Given the description of an element on the screen output the (x, y) to click on. 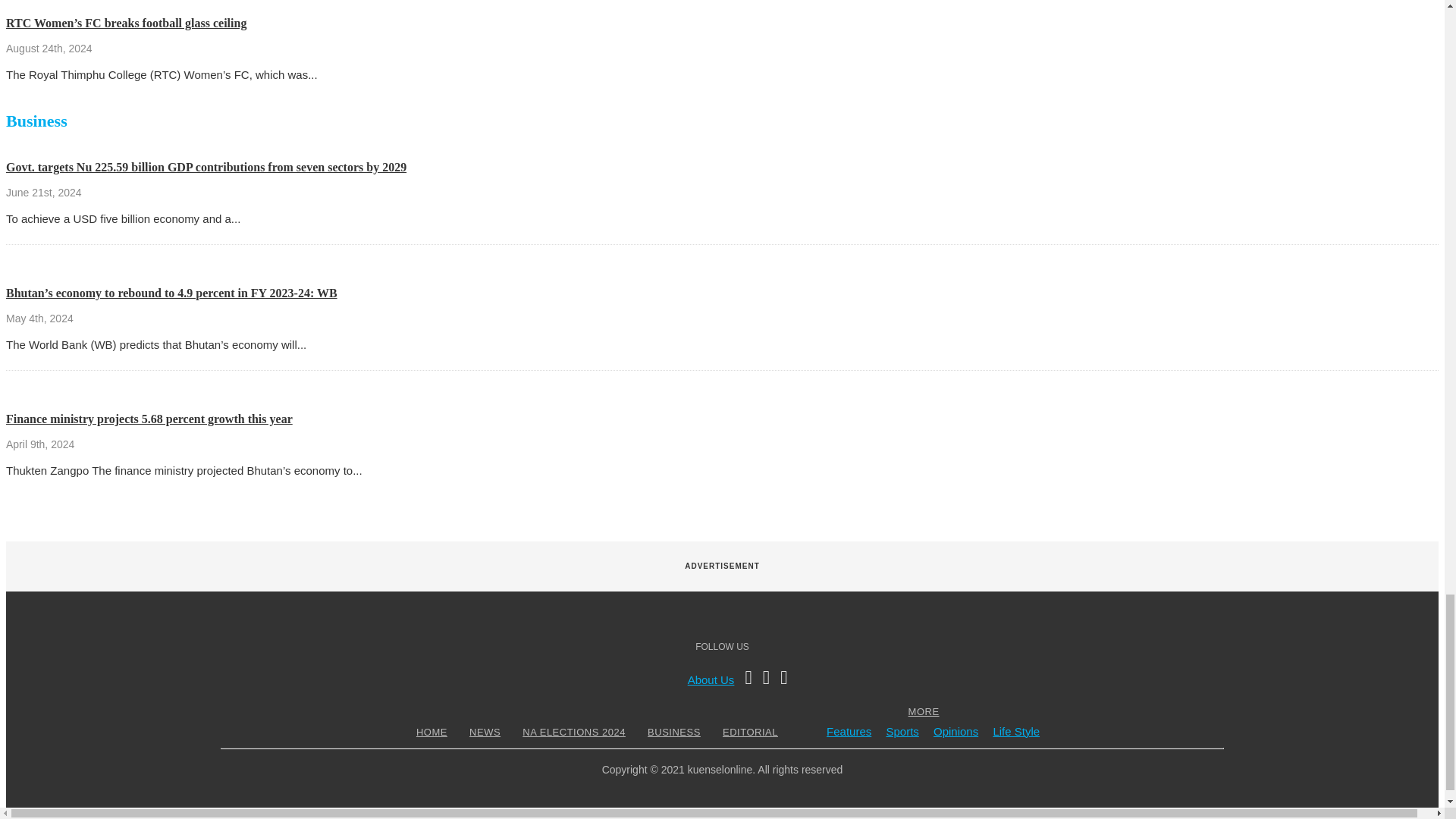
NEWS (484, 731)
Finance ministry projects 5.68 percent growth this year (148, 418)
EDITORIAL (750, 731)
BUSINESS (673, 731)
HOME (431, 731)
NA ELECTIONS 2024 (573, 731)
About Us (711, 679)
MORE (923, 711)
